Given the description of an element on the screen output the (x, y) to click on. 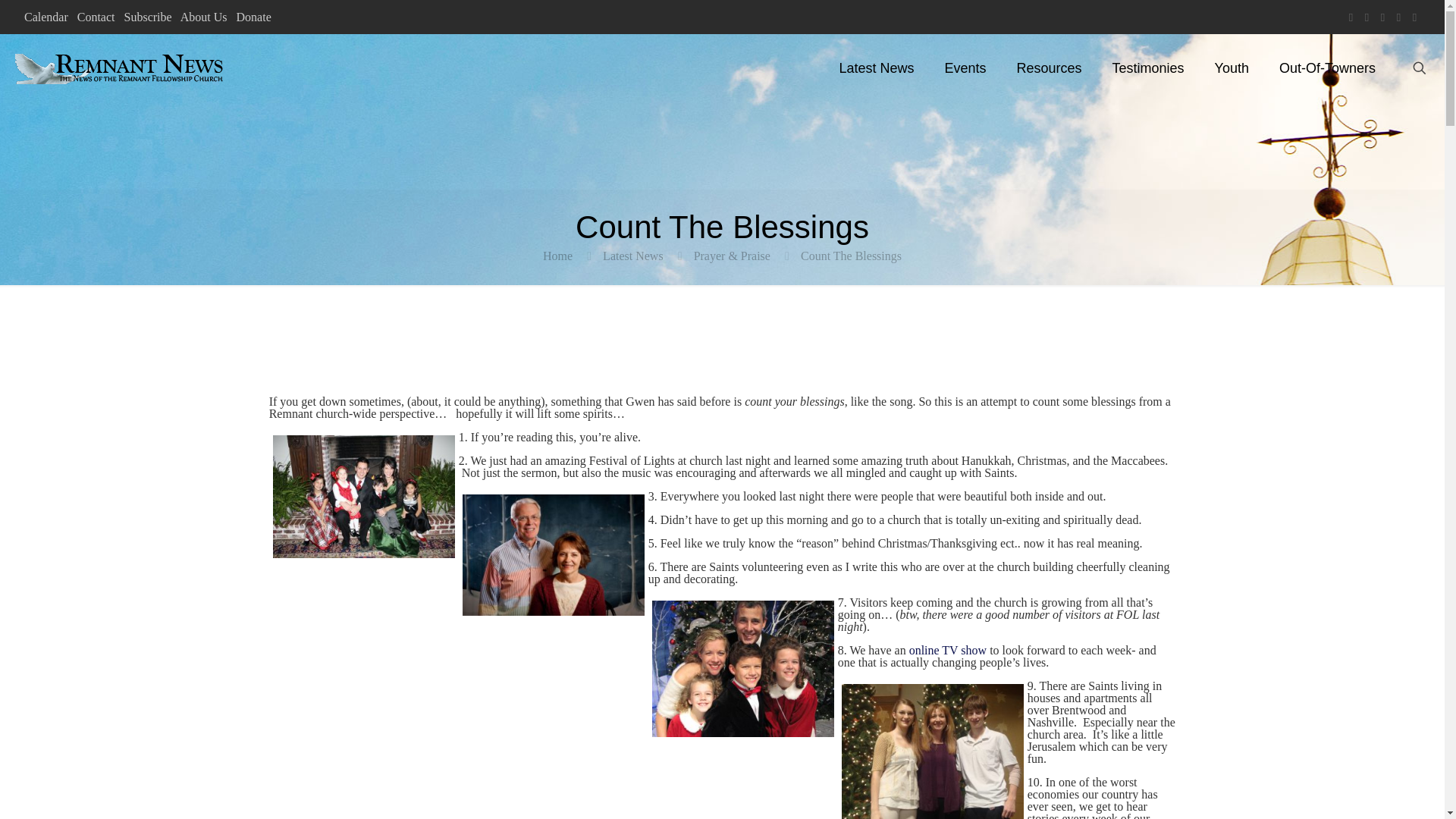
Instagram (1415, 17)
Events (964, 68)
family FOH (363, 495)
Resources (1048, 68)
Testimonies (1148, 68)
Latest News (632, 255)
Pinterest (1399, 17)
YouTube (1383, 17)
Youth (1231, 68)
Home (557, 255)
Latest News (876, 68)
Remnant Fellowship News (120, 68)
Facebook (1350, 17)
Calendar (46, 16)
b1 (554, 554)
